Given the description of an element on the screen output the (x, y) to click on. 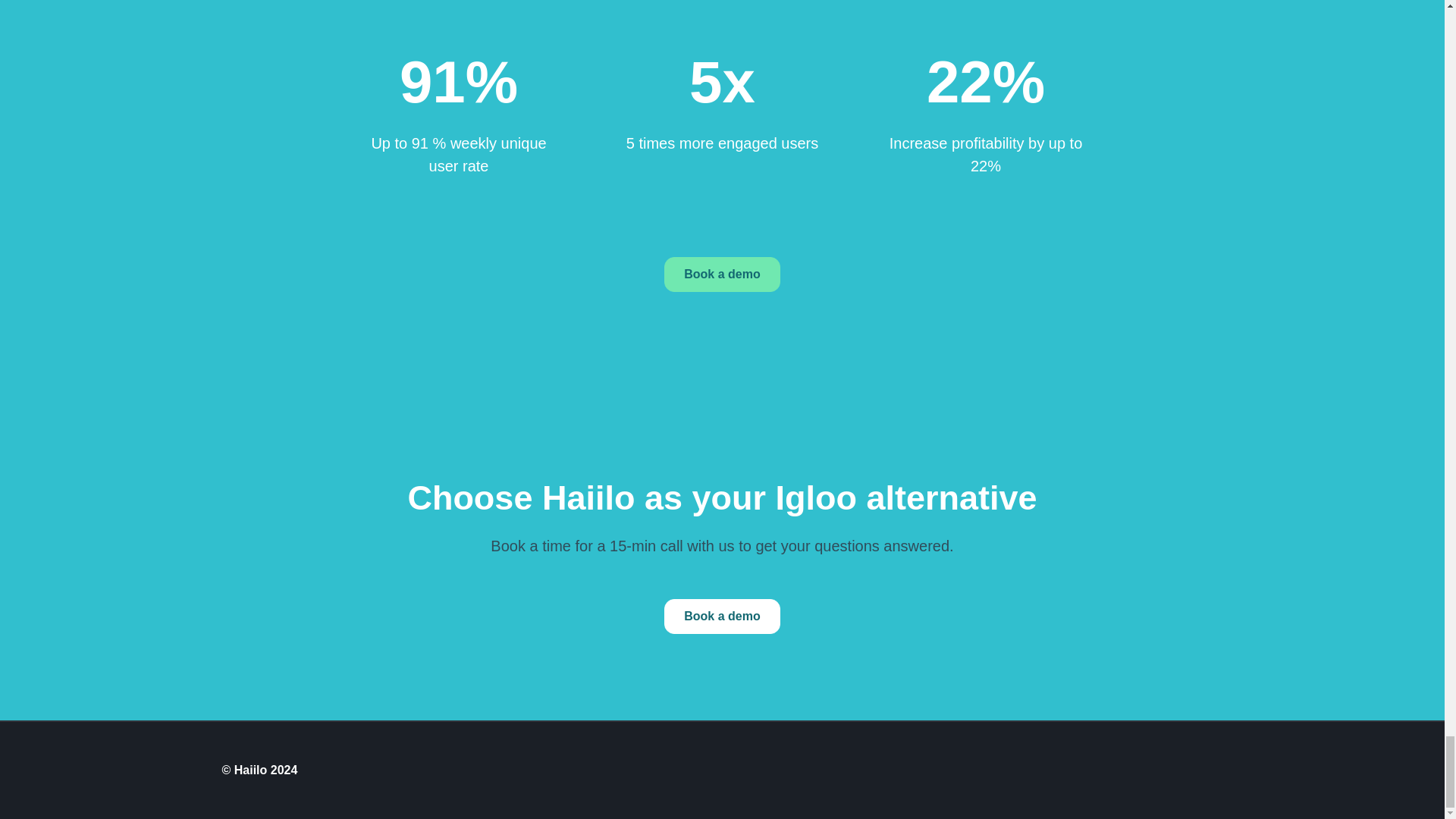
Book a demo (720, 274)
Instagram (1215, 774)
Book a demo (720, 615)
Facebook (1106, 774)
LinkedIn (1179, 774)
